Given the description of an element on the screen output the (x, y) to click on. 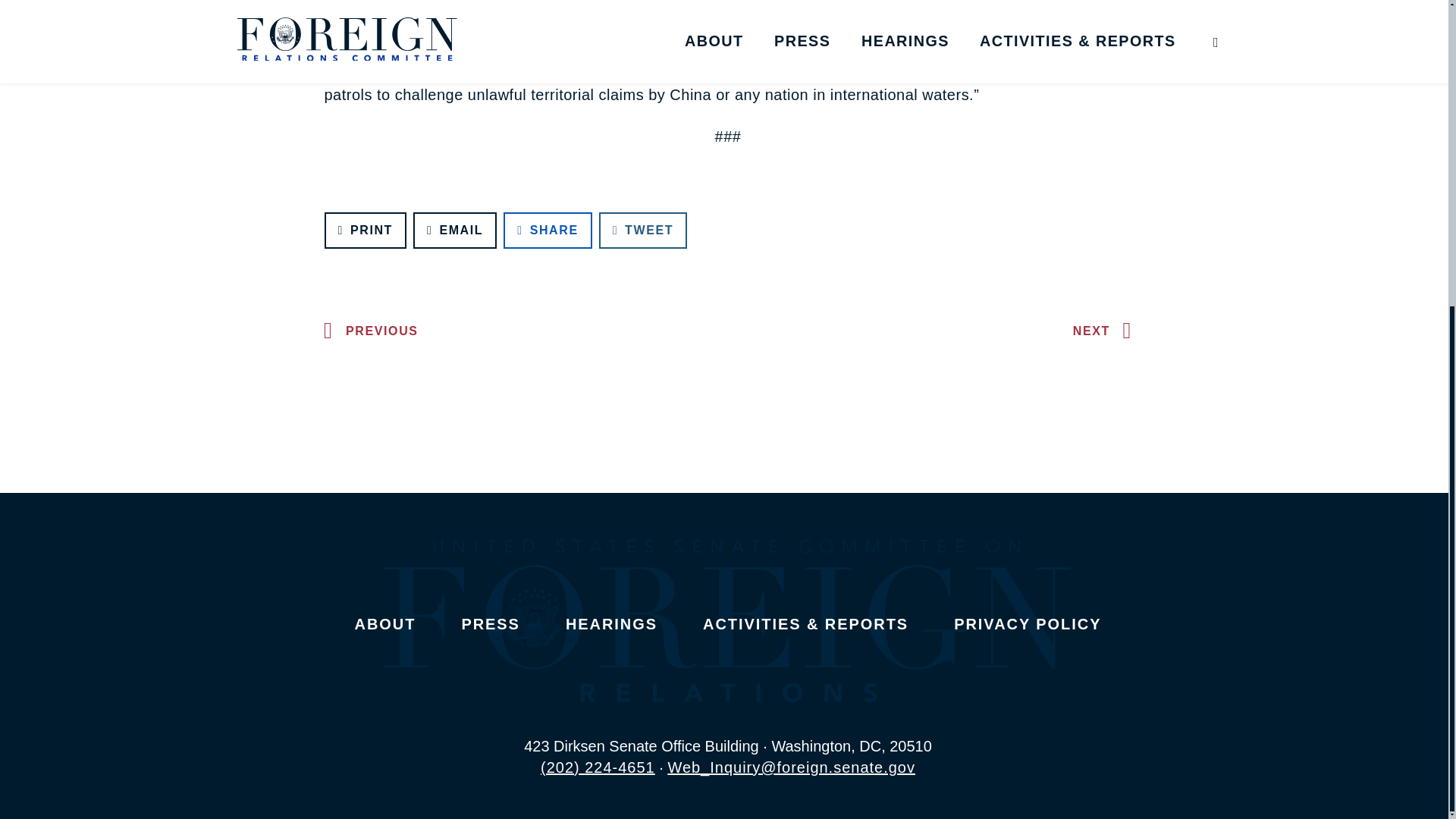
SHARE (547, 230)
ABOUT (385, 623)
PRINT (365, 230)
PREVIOUS (367, 330)
Privacy Policy (1026, 623)
Press (490, 623)
NEXT (1105, 330)
EMAIL (454, 230)
TWEET (642, 230)
About (385, 623)
